Given the description of an element on the screen output the (x, y) to click on. 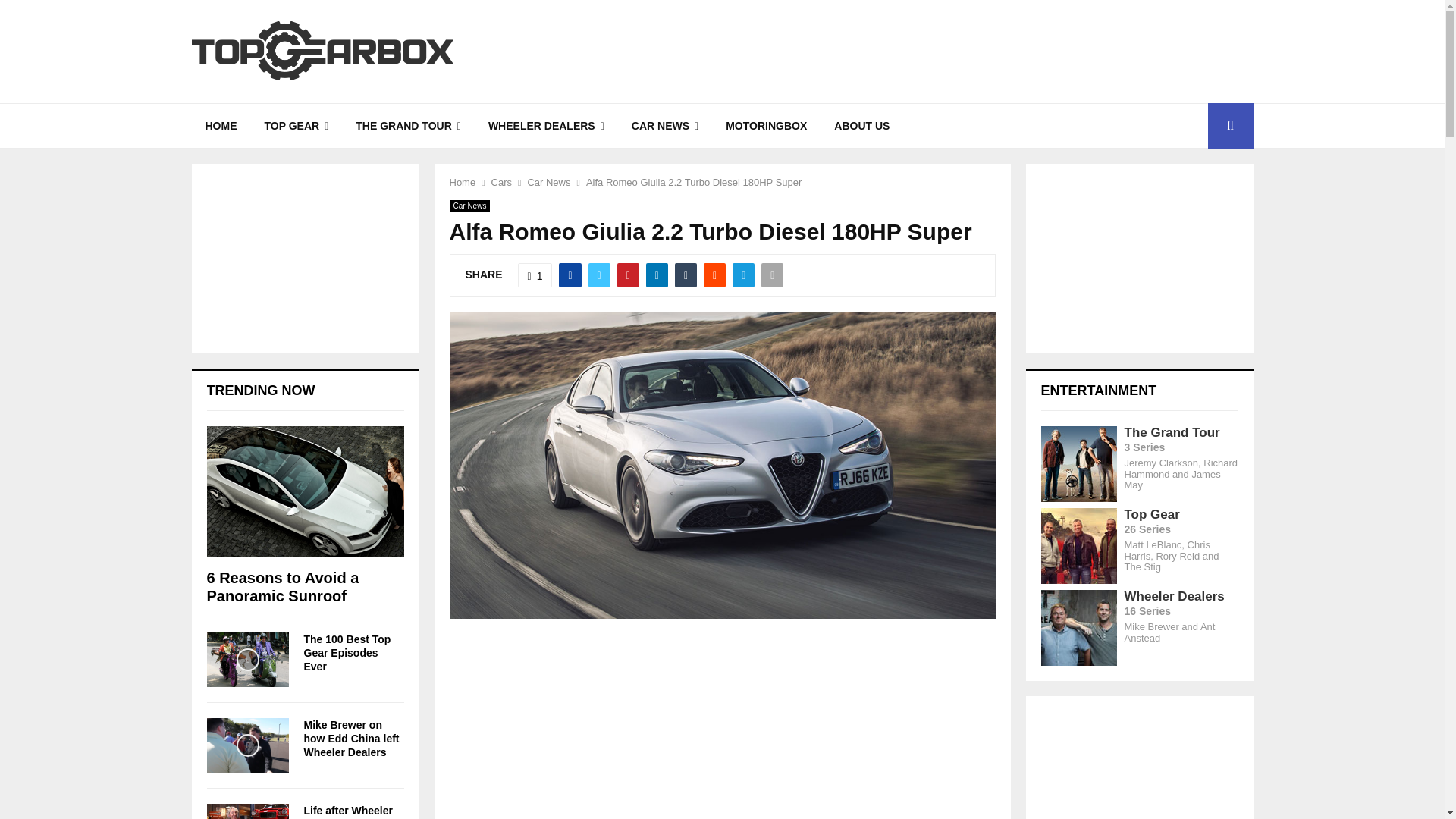
MOTORINGBOX (766, 125)
Cars (502, 182)
CAR NEWS (664, 125)
Alfa Romeo Giulia 2.2 Turbo Diesel 180HP Super (694, 182)
Like (535, 274)
Home (462, 182)
WHEELER DEALERS (545, 125)
Car News (548, 182)
THE GRAND TOUR (408, 125)
1 (535, 274)
